Given the description of an element on the screen output the (x, y) to click on. 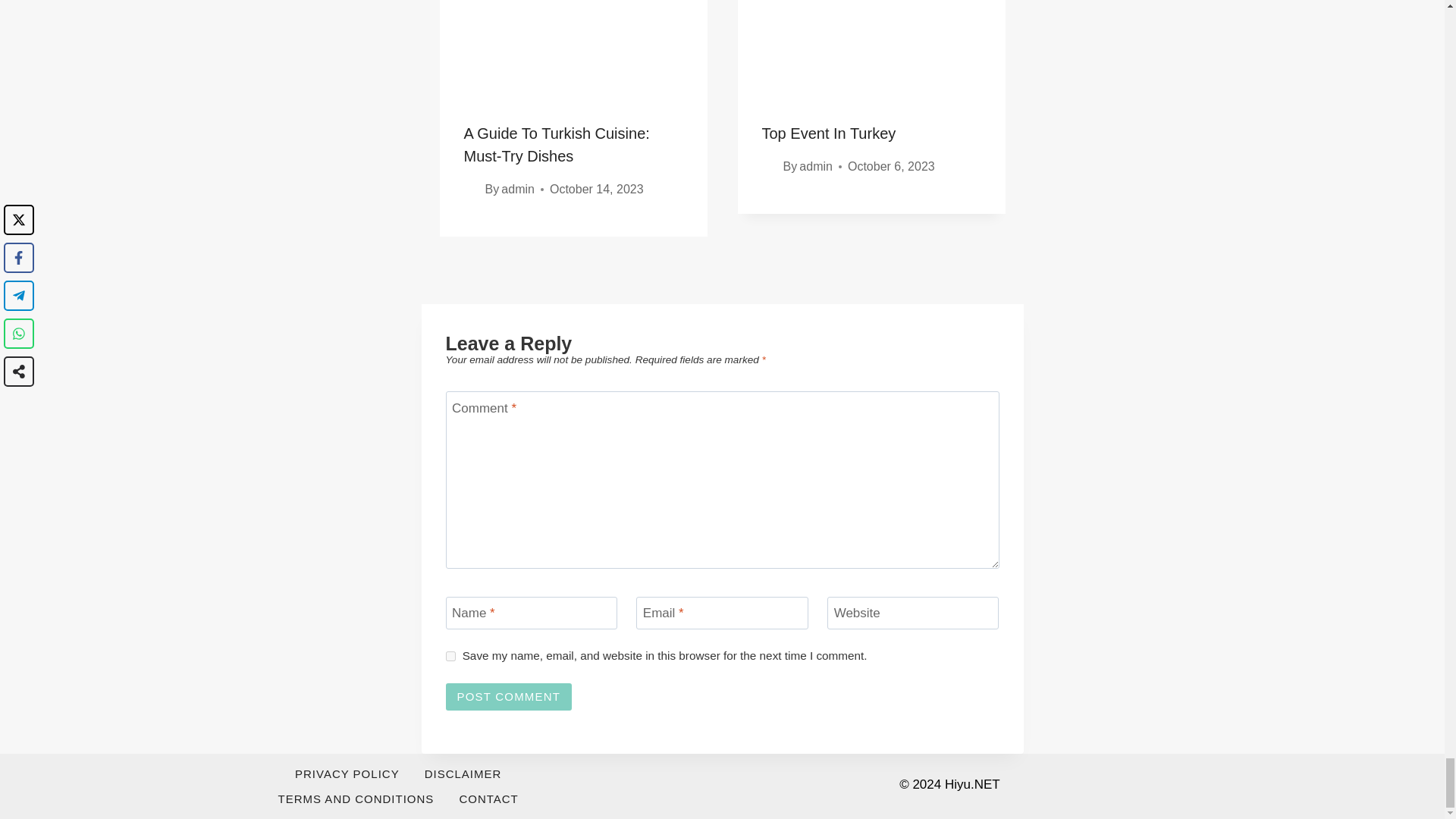
yes (450, 655)
A Guide To Turkish Cuisine: Must-Try Dishes (556, 144)
Post Comment (508, 696)
Post Comment (508, 696)
admin (815, 165)
Top Event In Turkey (828, 133)
admin (517, 188)
